Given the description of an element on the screen output the (x, y) to click on. 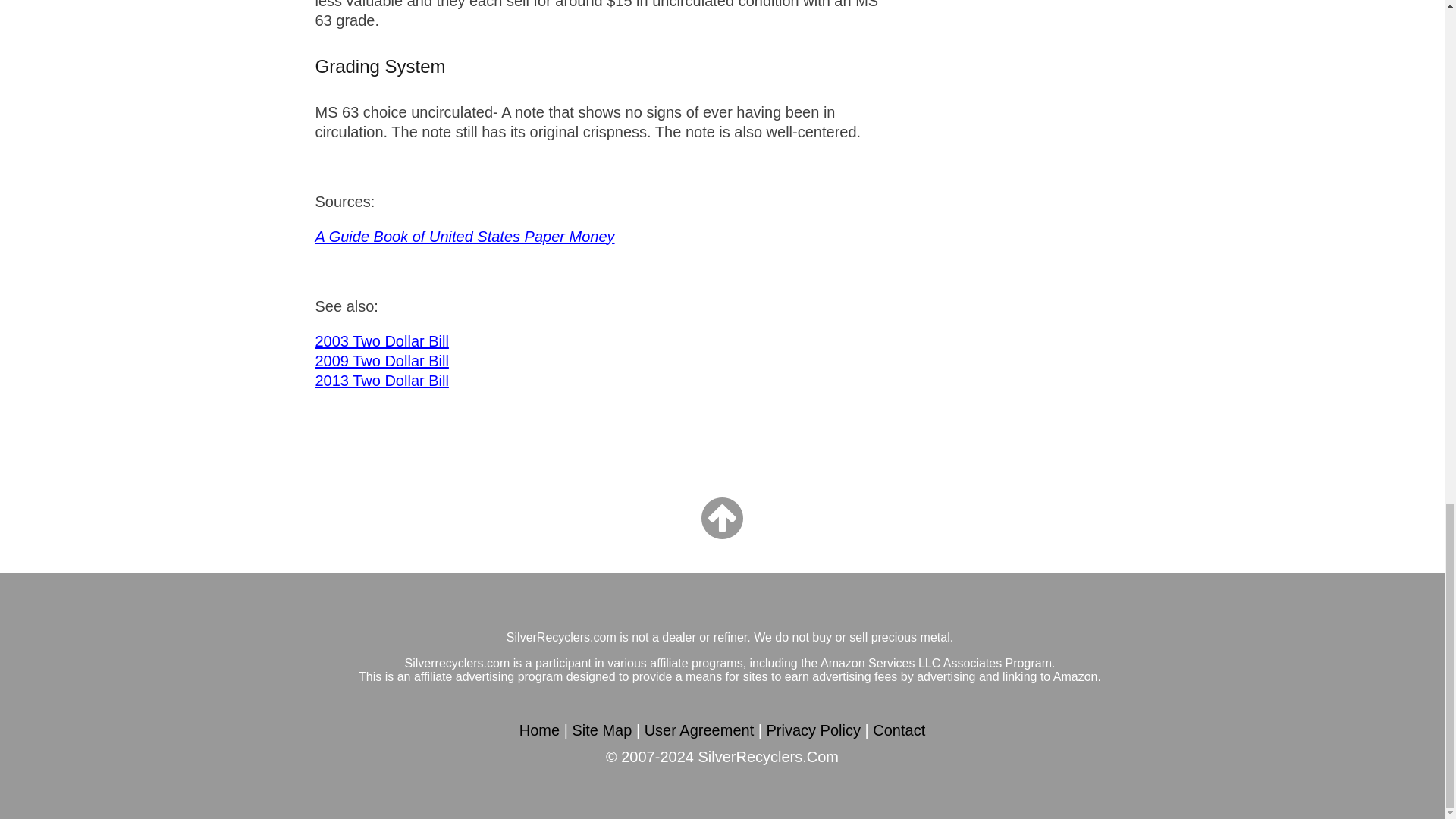
Home (539, 731)
Go to top (722, 519)
2009 Two Dollar Bill (381, 361)
User Agreement (699, 731)
2013 Two Dollar Bill (381, 380)
A Guide Book of United States Paper Money (464, 236)
2003 Two Dollar Bill (381, 341)
Site Map (601, 731)
Contact (898, 731)
Privacy Policy (812, 731)
